Given the description of an element on the screen output the (x, y) to click on. 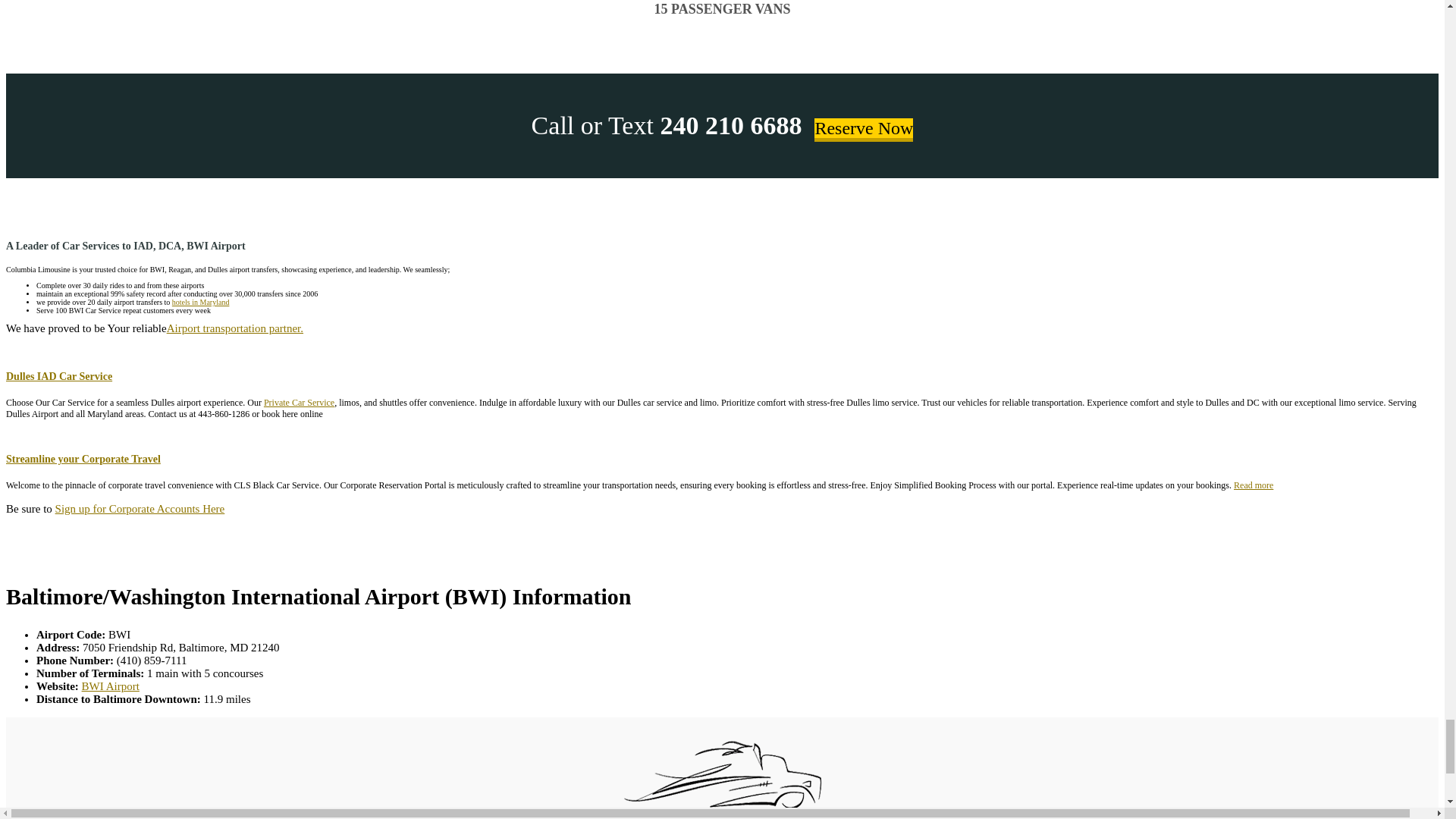
BWI Airport (110, 686)
Private Car Service (298, 402)
Airport transportation partner. (234, 328)
Dulles IAD Car Service (58, 376)
Streamline your Corporate Travel (82, 459)
Reserve Now (862, 129)
Read more (1252, 484)
Sign up for Corporate Accounts Here (140, 508)
hotels in Maryland (200, 302)
